Given the description of an element on the screen output the (x, y) to click on. 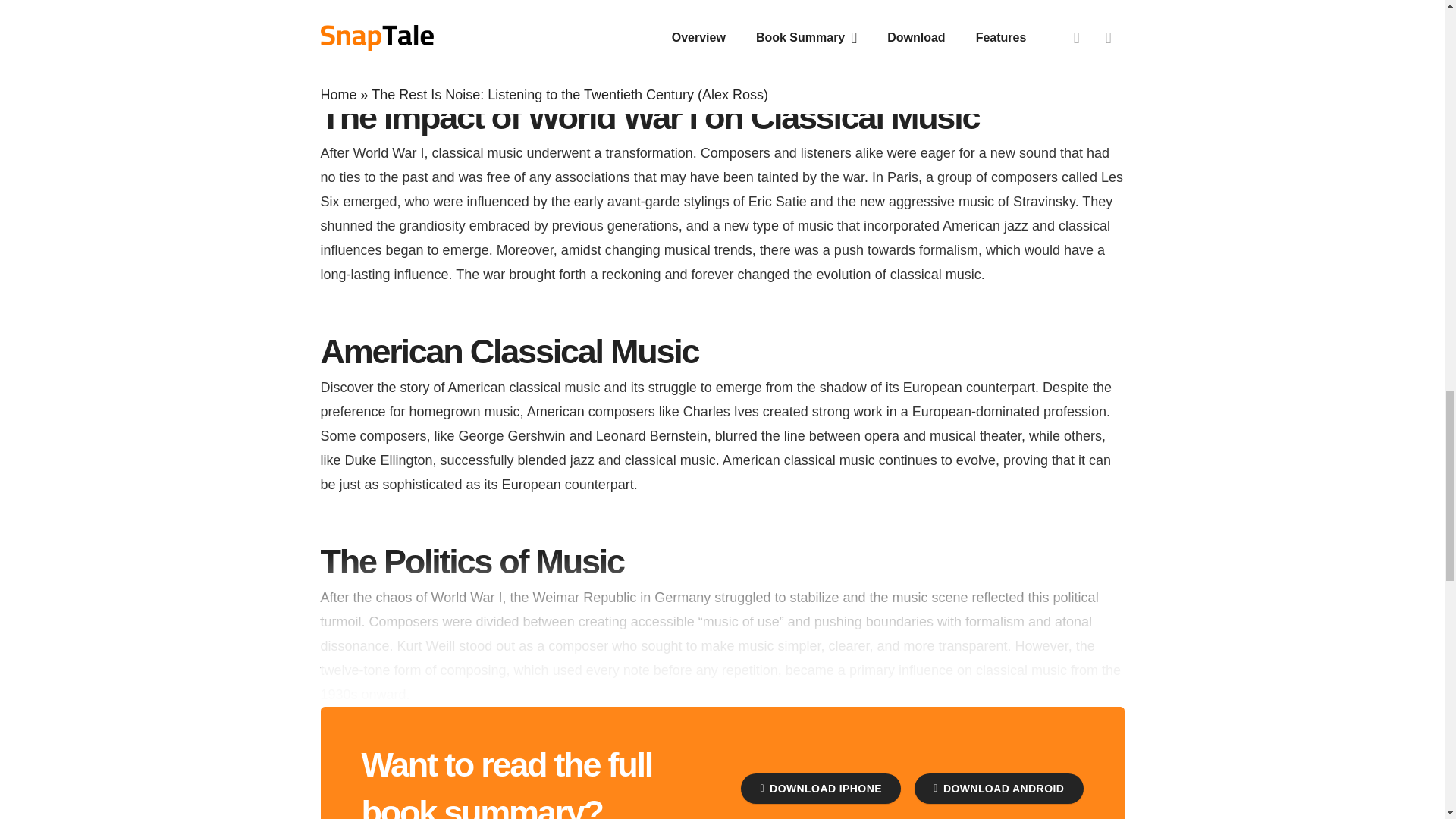
DOWNLOAD IPHONE (821, 788)
